Given the description of an element on the screen output the (x, y) to click on. 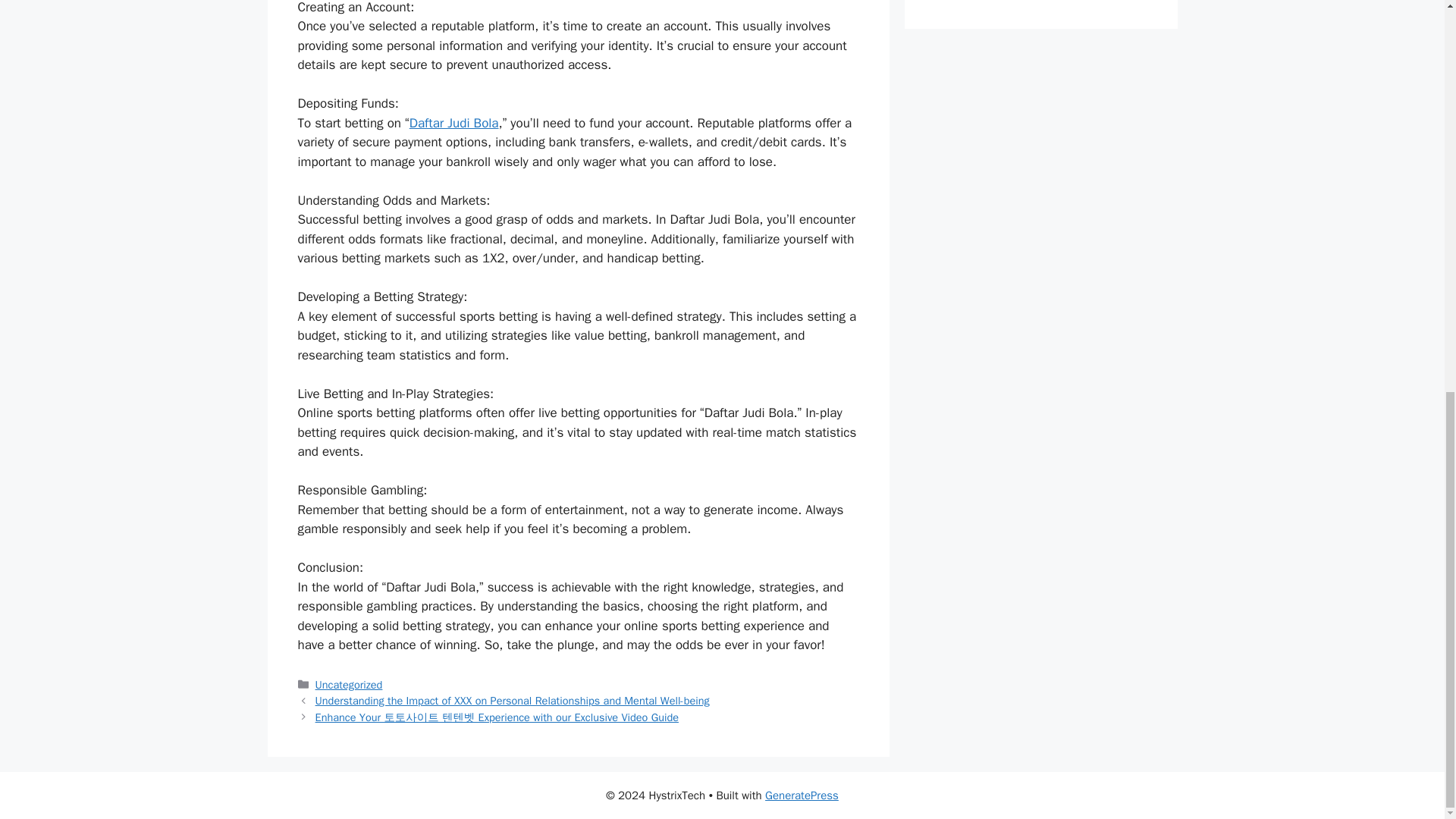
Uncategorized (348, 684)
GeneratePress (801, 795)
Daftar Judi Bola (454, 123)
